Given the description of an element on the screen output the (x, y) to click on. 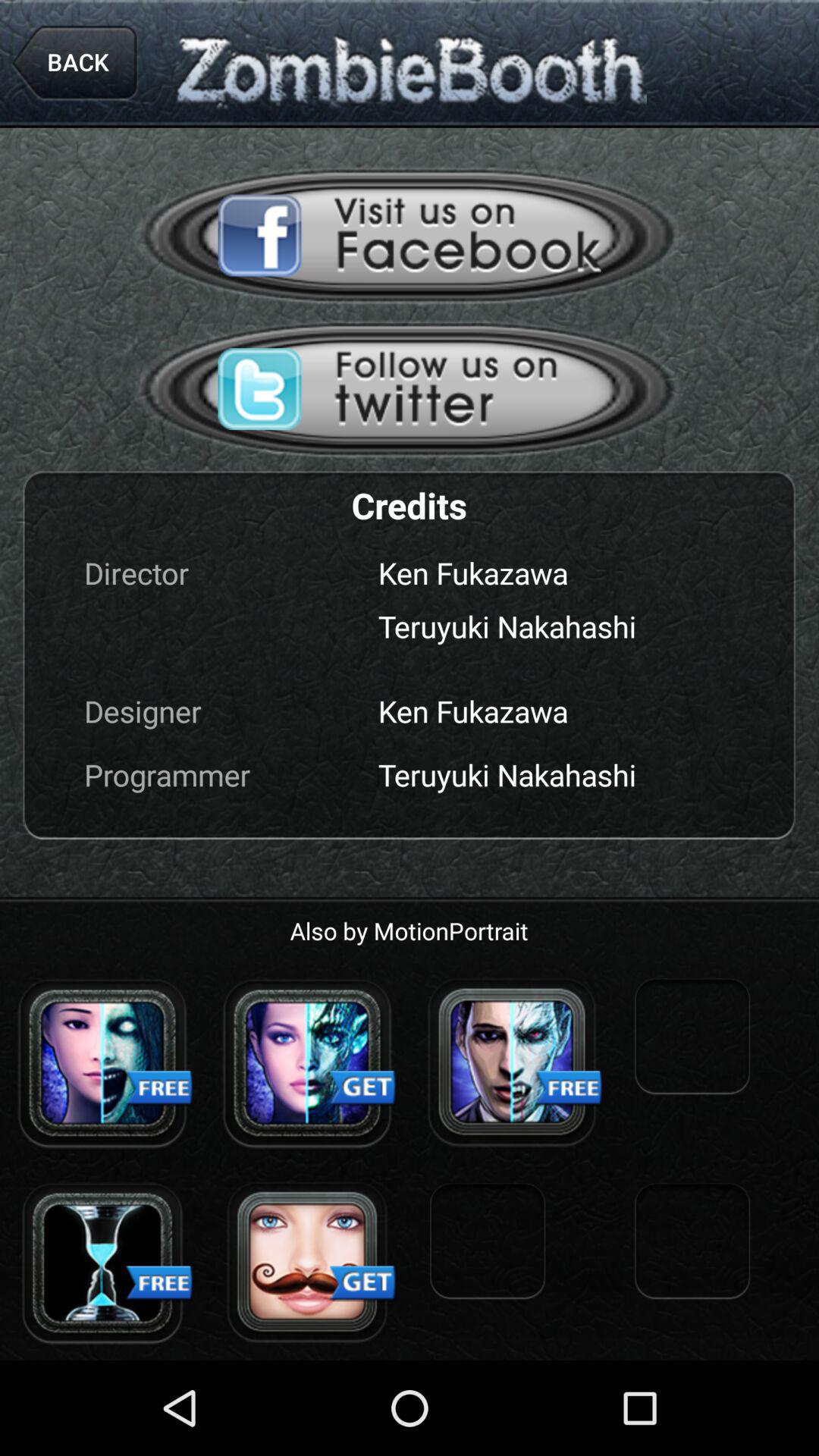
open facebook page (409, 235)
